Given the description of an element on the screen output the (x, y) to click on. 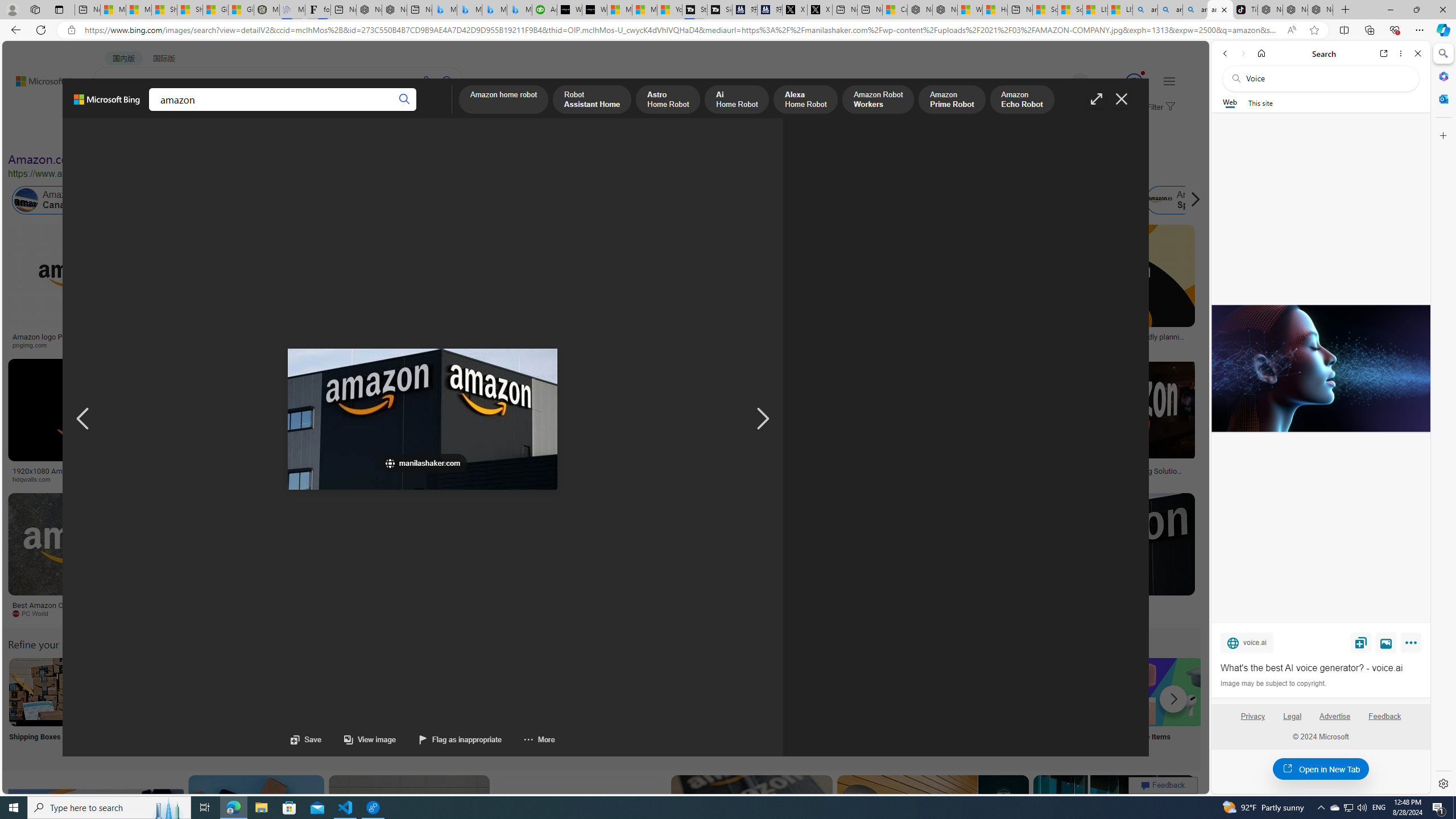
Amazon Robot Workers (878, 100)
aiophotoz.com (347, 612)
Type (212, 135)
Marketplace (397, 479)
Two Reasons Why Retailers Need to Leverage Amazon (224, 340)
Amazon Shoes (1079, 200)
aiophotoz.com (378, 613)
License (377, 135)
Nordace - Siena Pro 15 Essential Set (1320, 9)
Shipping Boxes (42, 706)
